Given the description of an element on the screen output the (x, y) to click on. 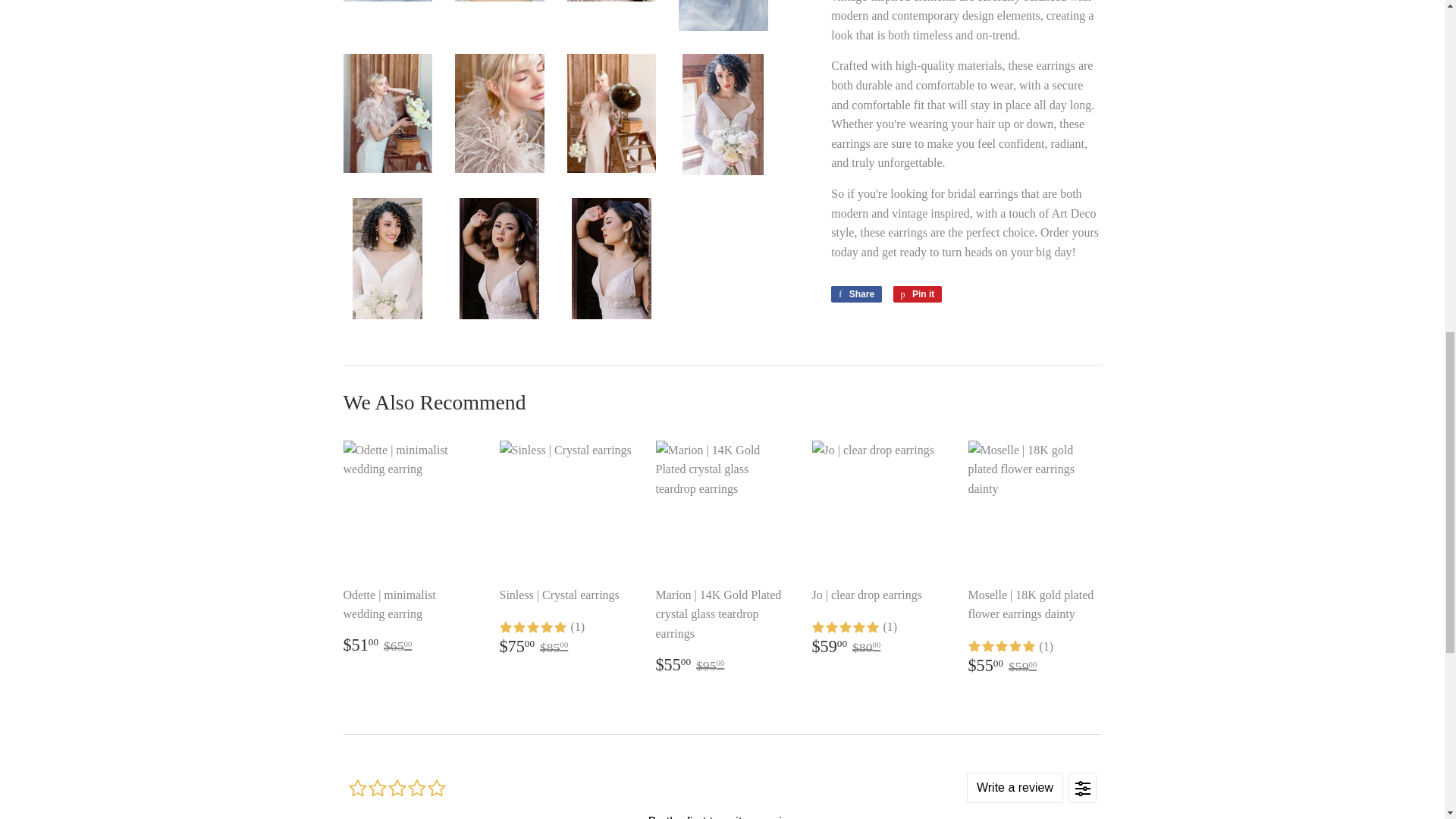
Product reviews widget (721, 788)
Pin on Pinterest (917, 293)
Share on Facebook (856, 293)
